Given the description of an element on the screen output the (x, y) to click on. 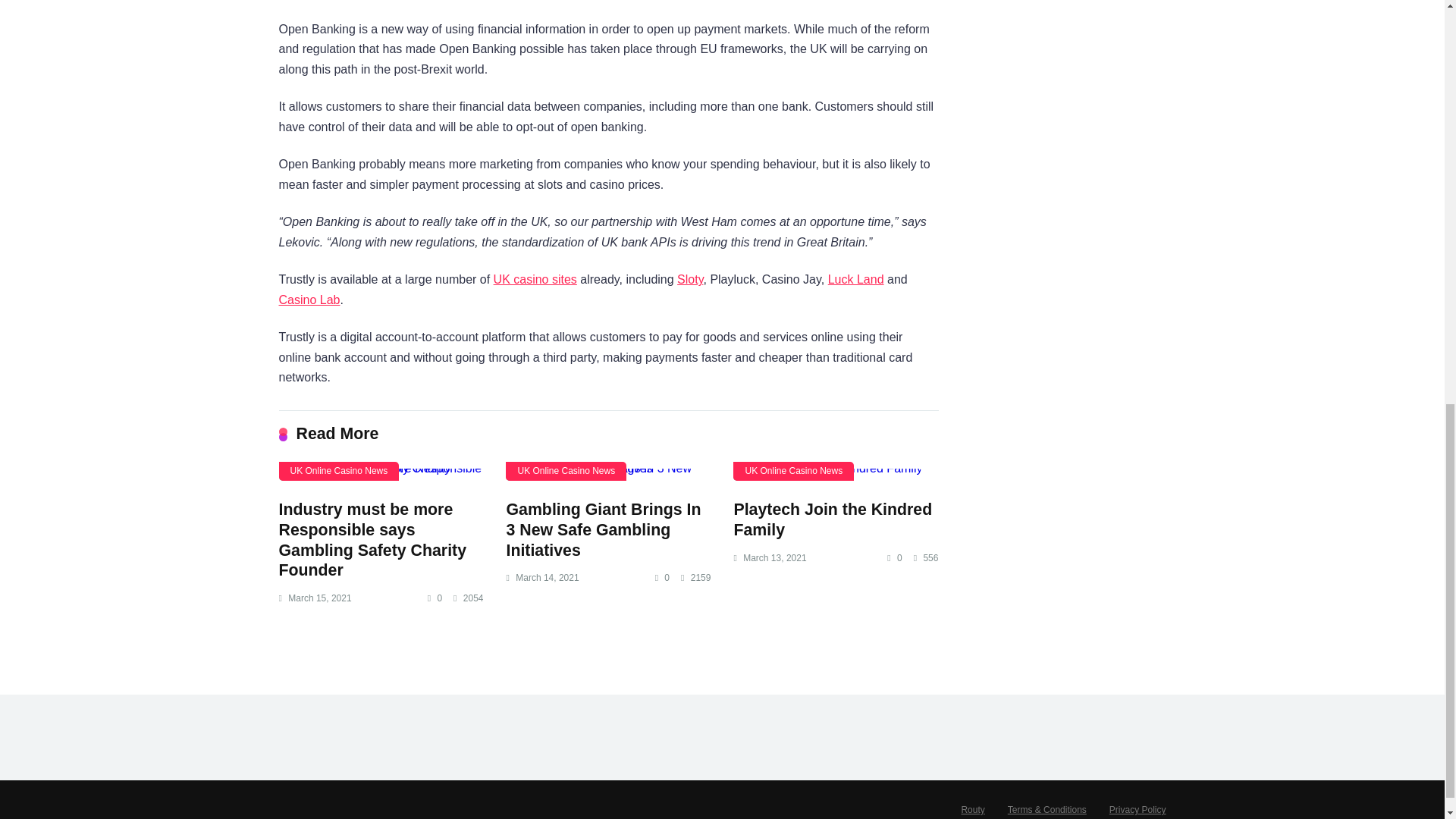
Playtech Join the Kindred Family (835, 474)
Gambling Giant Brings In 3 New Safe Gambling Initiatives (602, 529)
UK Online Casino News (338, 470)
Gambling Giant Brings In 3 New Safe Gambling Initiatives (602, 529)
UK Online Casino News (793, 470)
UK casino sites (534, 278)
UK Online Casino News (565, 470)
Gambling Giant Brings In 3 New Safe Gambling Initiatives (607, 474)
Playtech Join the Kindred Family (832, 519)
Luck Land (855, 278)
Casino Lab (309, 299)
Playtech Join the Kindred Family (832, 519)
